Given the description of an element on the screen output the (x, y) to click on. 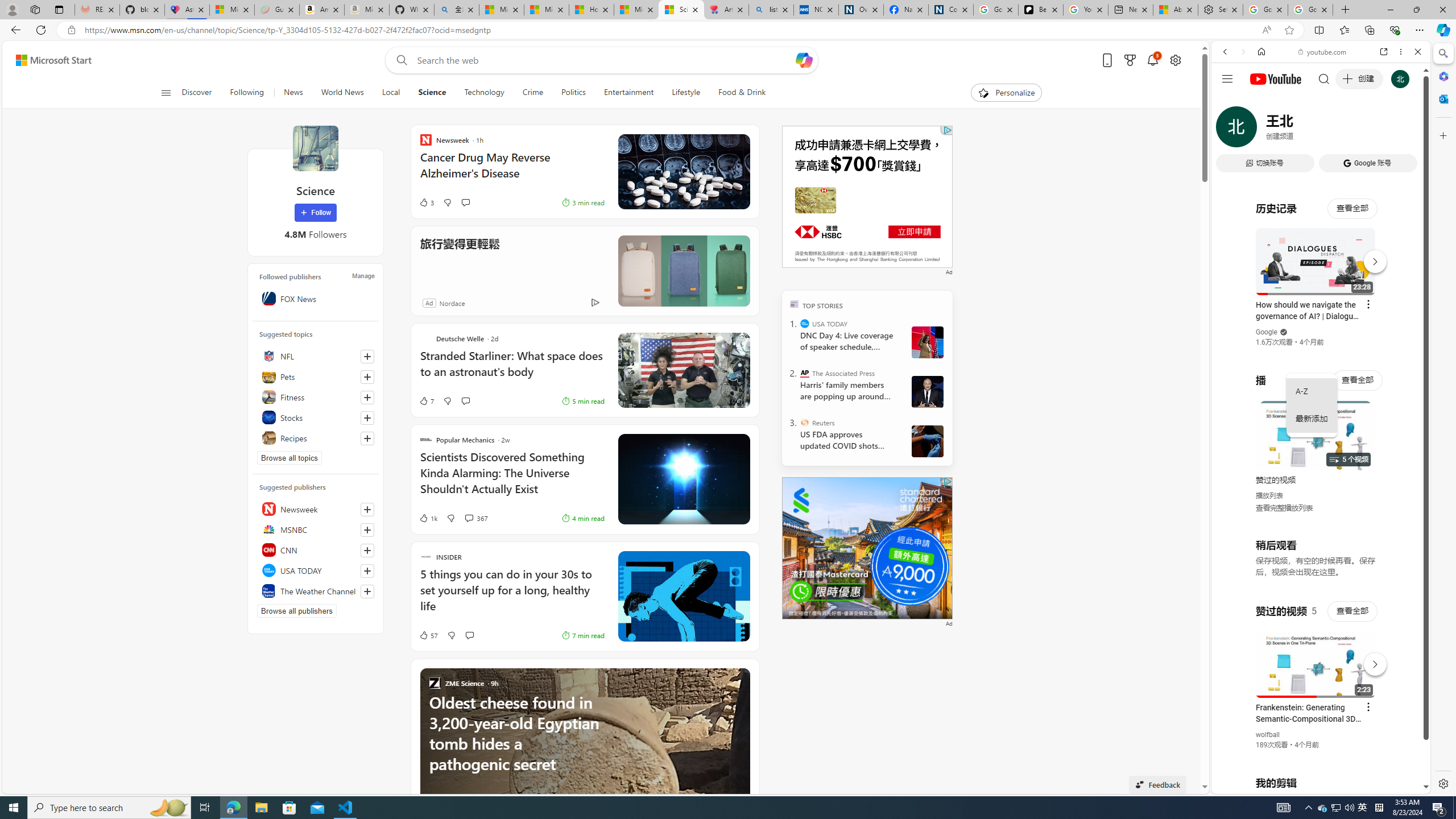
Forward (1242, 51)
How I Got Rid of Microsoft Edge's Unnecessary Features (591, 9)
Politics (573, 92)
NFL (315, 356)
US FDA approves updated COVID shots ahead of fall and winter (846, 440)
The Associated Press (804, 372)
Follow this source (367, 591)
SEARCH TOOLS (1350, 130)
